Given the description of an element on the screen output the (x, y) to click on. 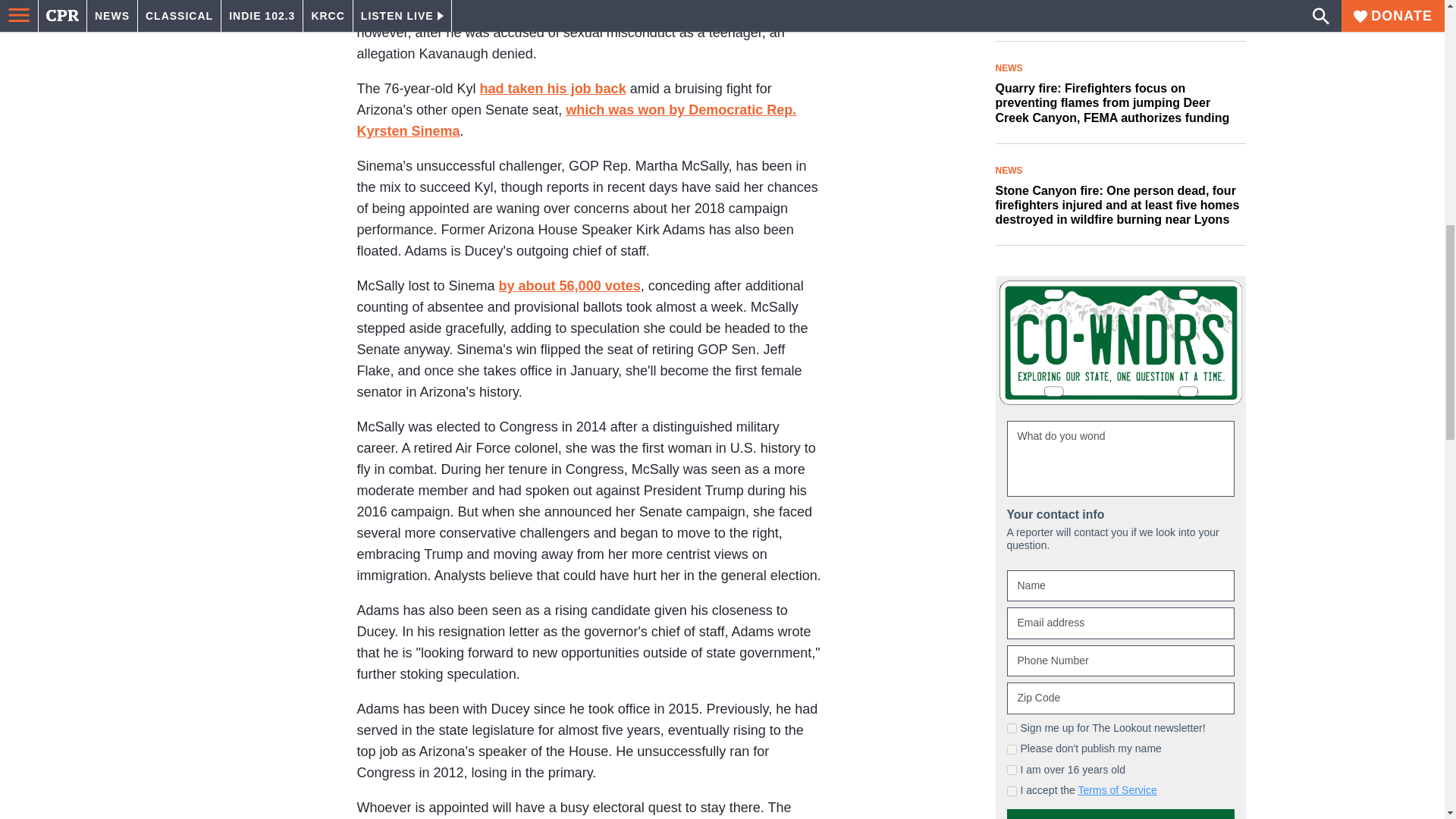
on (1011, 582)
on (1011, 561)
on (1011, 603)
on (1011, 540)
